Given the description of an element on the screen output the (x, y) to click on. 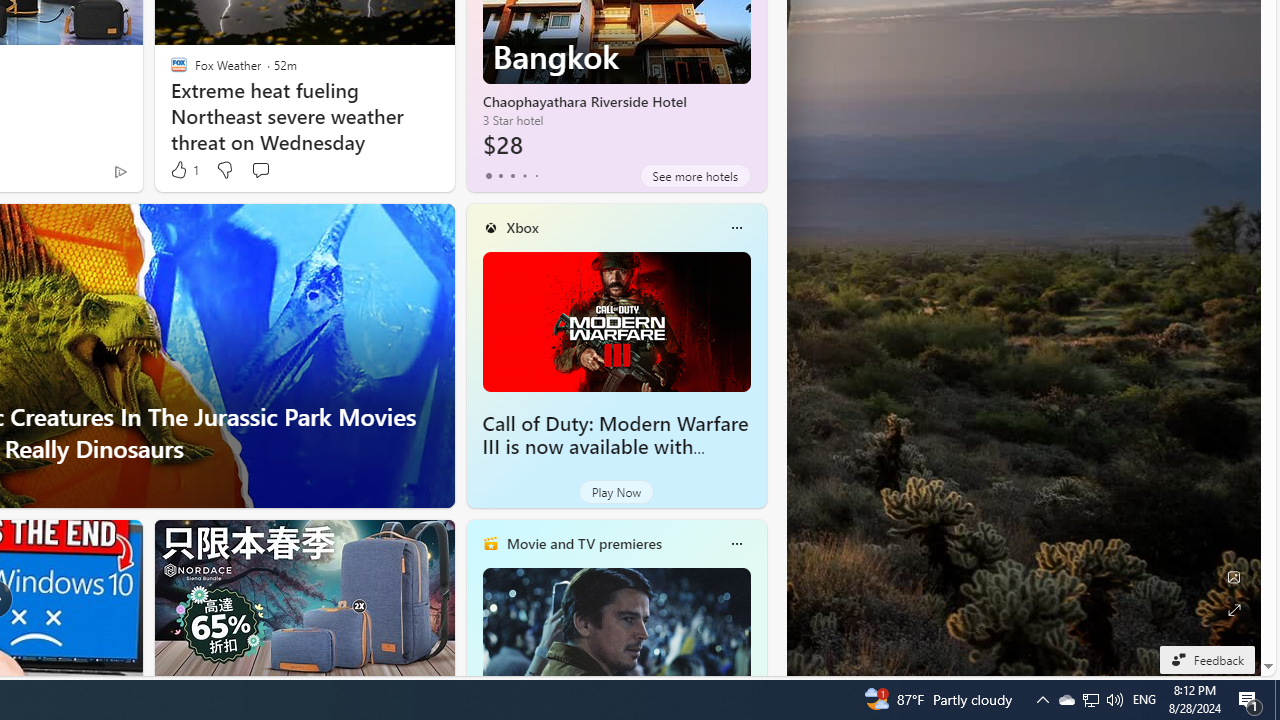
tab-3 (524, 175)
Movie and TV premieres (583, 543)
tab-1 (500, 175)
Class: icon-img (736, 543)
1 Like (183, 170)
